Given the description of an element on the screen output the (x, y) to click on. 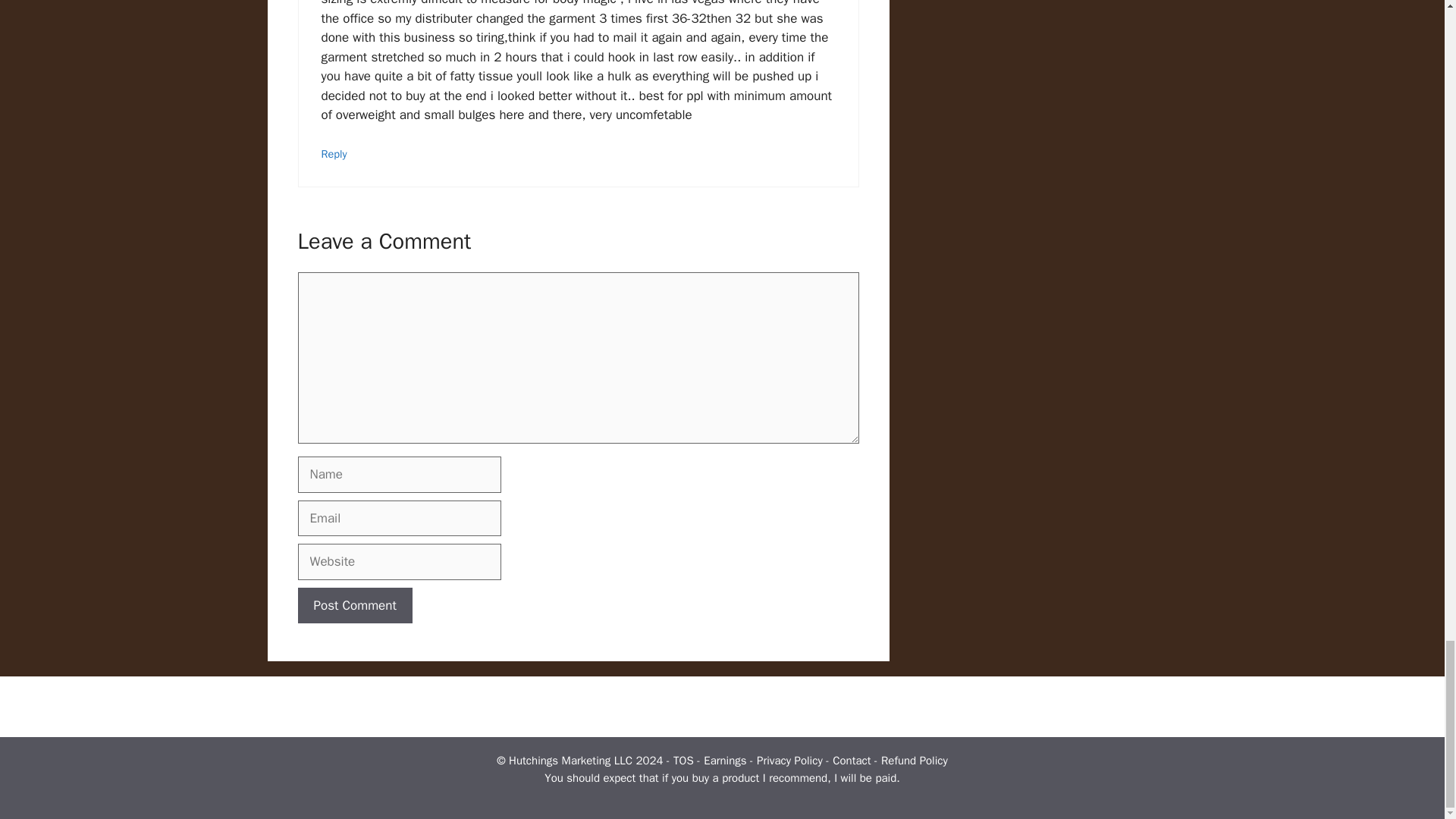
Reply (334, 153)
Post Comment (354, 606)
Post Comment (354, 606)
